Given the description of an element on the screen output the (x, y) to click on. 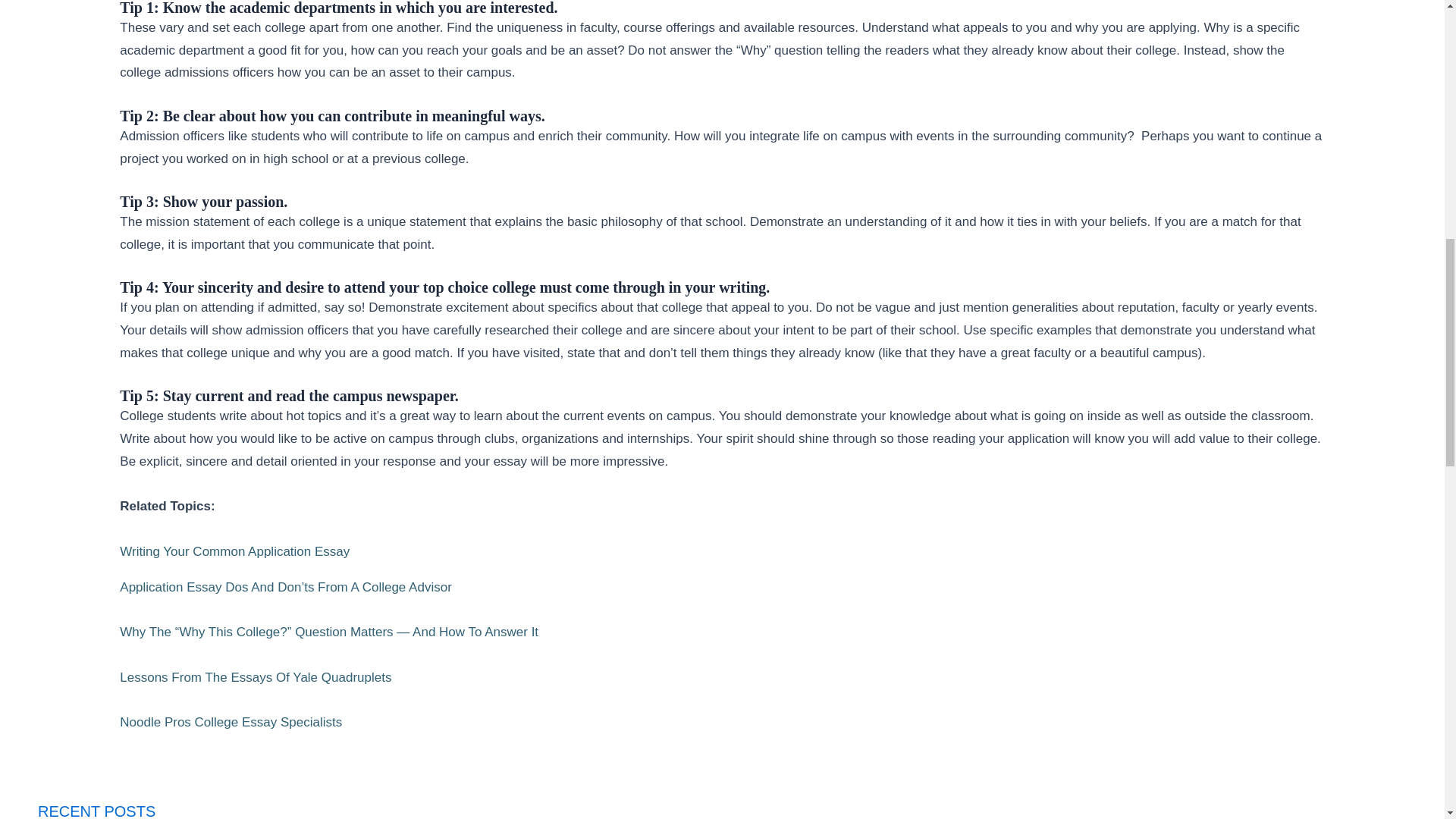
Noodle Pros College Essay Specialists (230, 721)
Writing Your Common Application Essay (234, 551)
Lessons From The Essays Of Yale Quadruplets (255, 677)
